Given the description of an element on the screen output the (x, y) to click on. 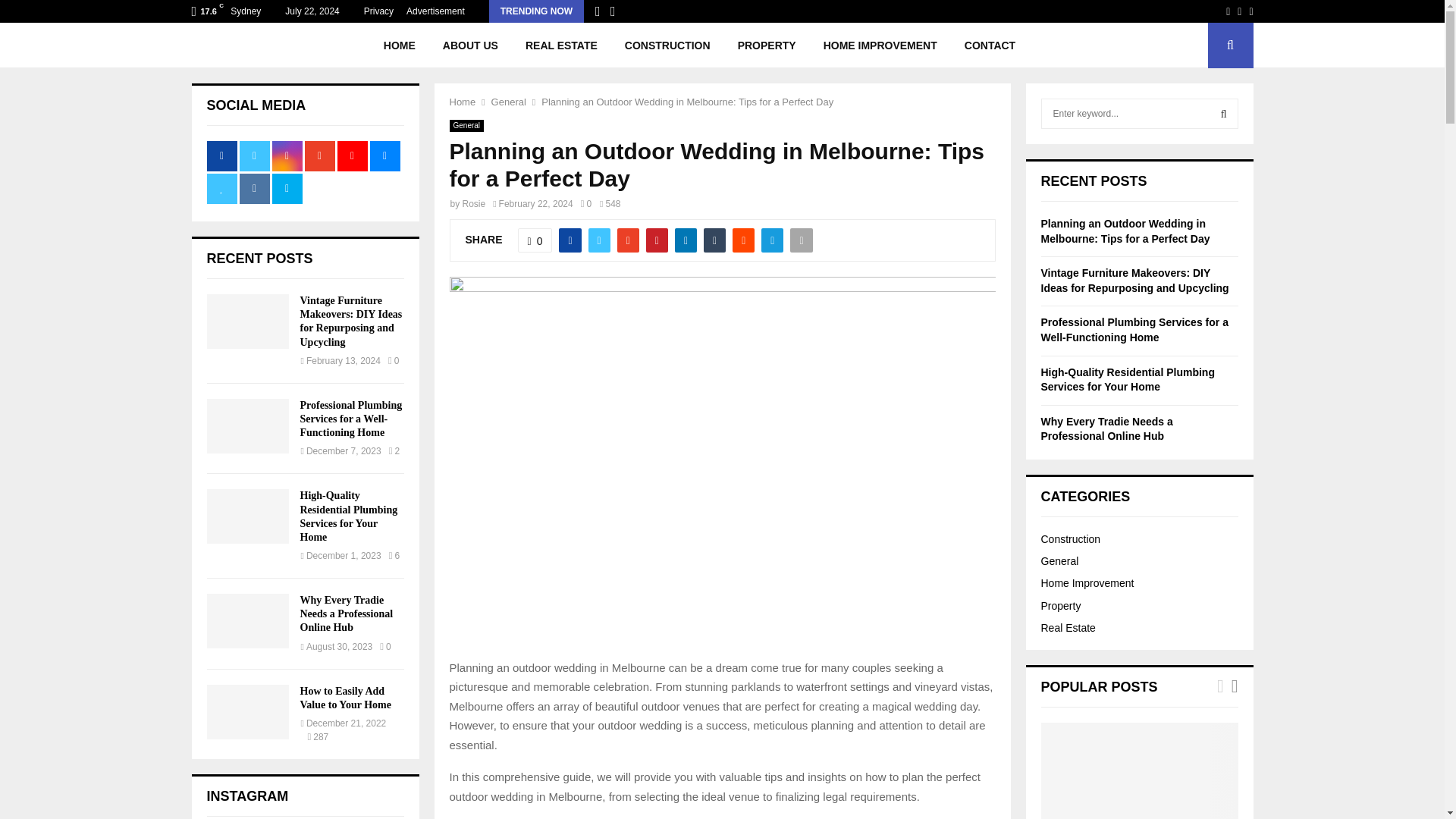
Rosie (474, 204)
Home (462, 101)
HOME IMPROVEMENT (879, 44)
Facebook (1227, 11)
General (508, 101)
0 (585, 204)
Advertisement (435, 11)
Facebook (1227, 11)
Twitter (1239, 11)
Privacy (378, 11)
CONSTRUCTION (667, 44)
Pinterest (1250, 11)
HOME (399, 44)
Pinterest (1250, 11)
